Given the description of an element on the screen output the (x, y) to click on. 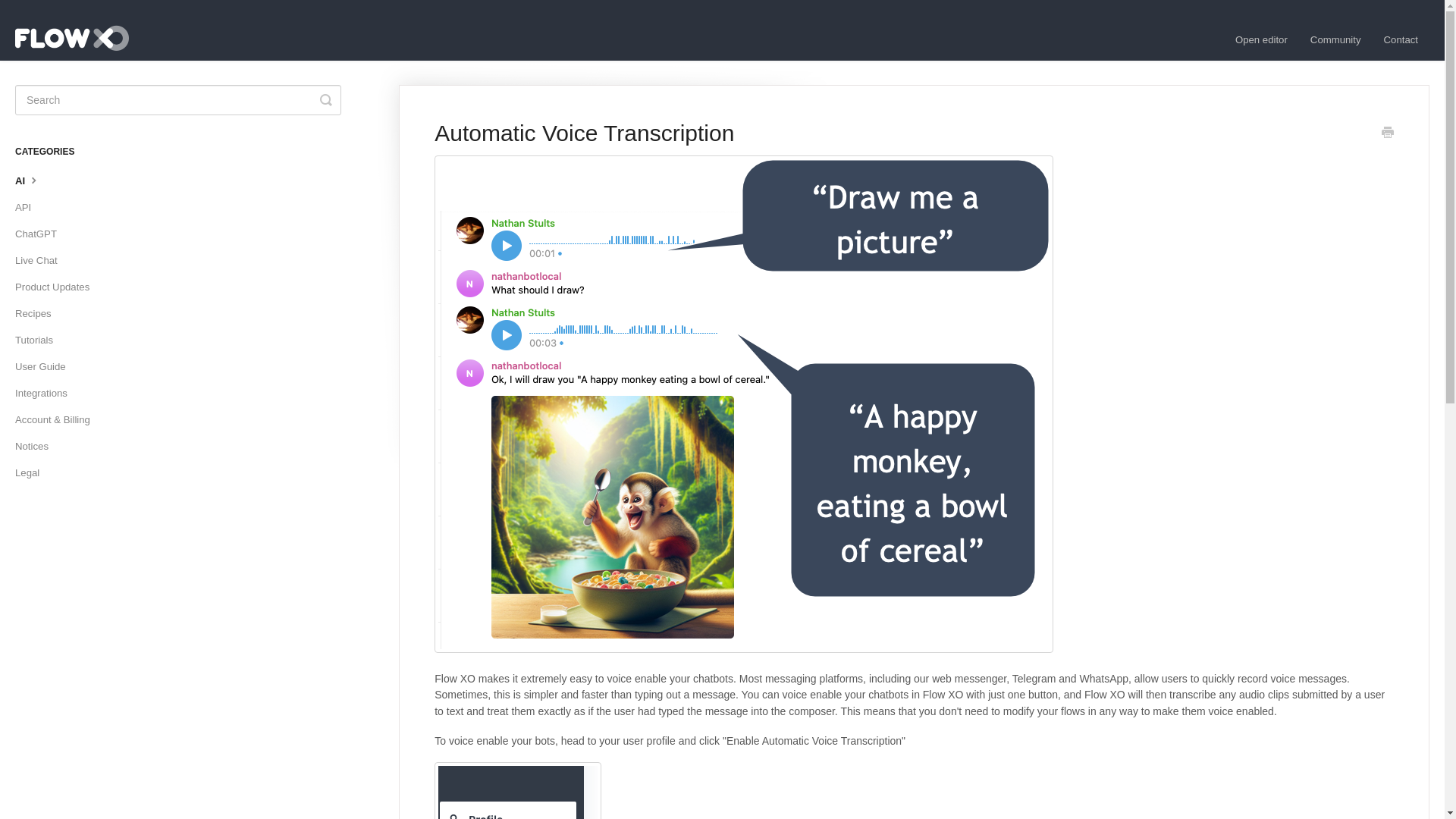
Integrations (46, 392)
Product Updates (57, 286)
User Guide (45, 366)
Open editor (1261, 39)
Recipes (38, 313)
Legal (32, 473)
AI (33, 180)
search-query (177, 100)
Live Chat (41, 260)
ChatGPT (41, 233)
Tutorials (39, 339)
Notices (36, 445)
API (28, 207)
Contact (1401, 39)
Community (1335, 39)
